Given the description of an element on the screen output the (x, y) to click on. 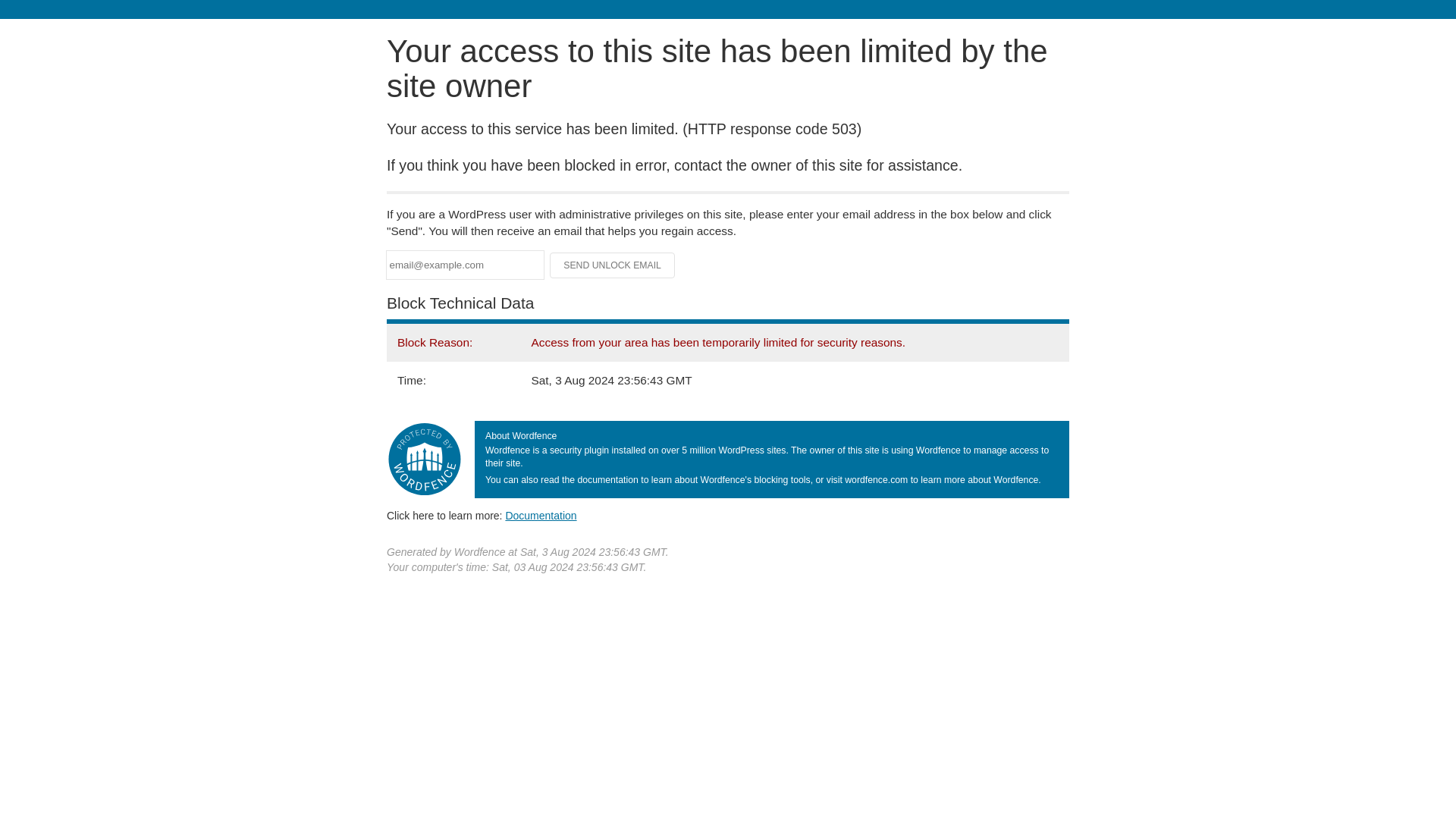
Send Unlock Email (612, 265)
Send Unlock Email (612, 265)
Documentation (540, 515)
